Given the description of an element on the screen output the (x, y) to click on. 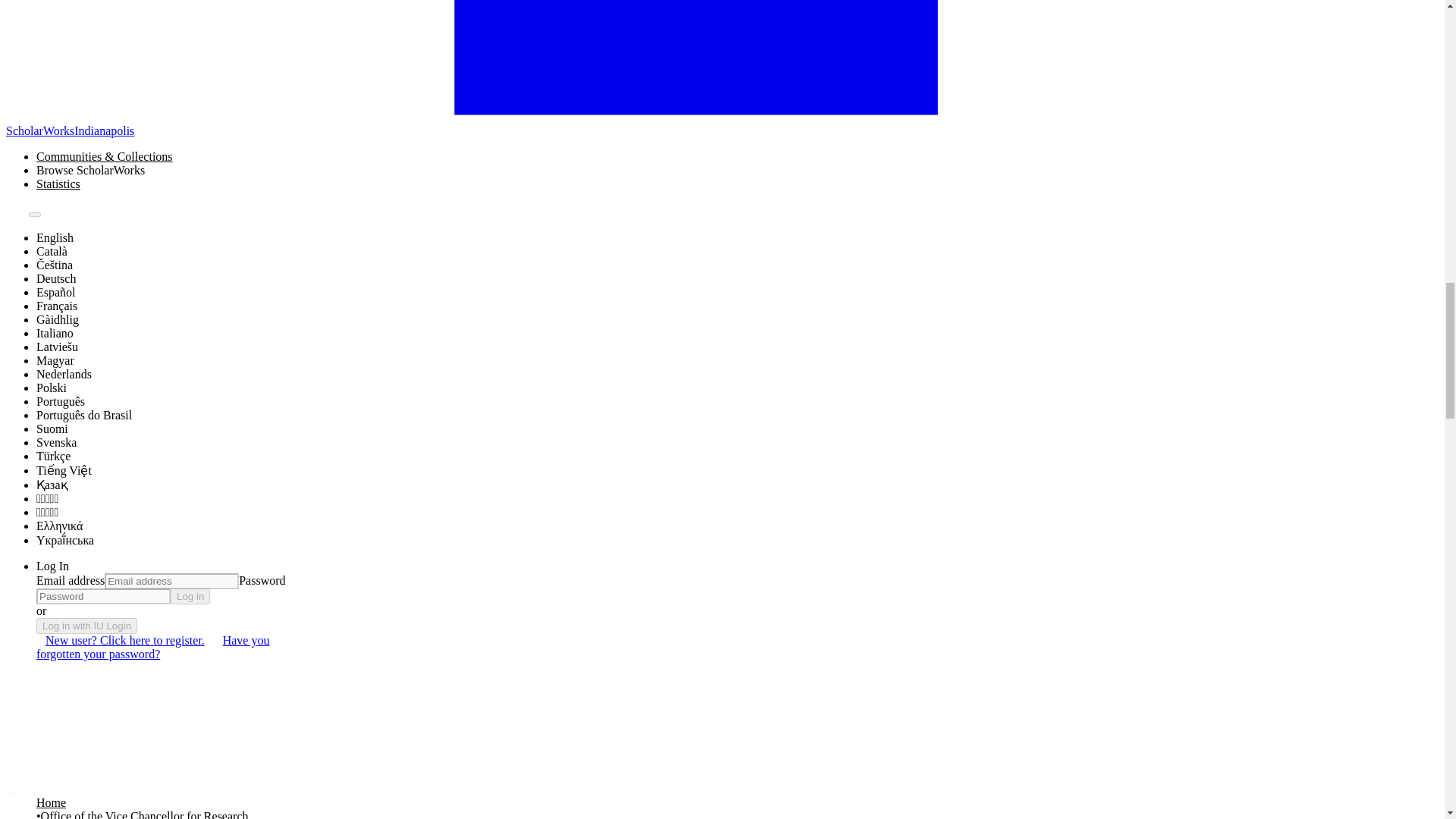
Log In (52, 565)
Browse ScholarWorks (104, 170)
Log in with IU Login (86, 625)
Home (50, 802)
Office of the Vice Chancellor for Research (144, 814)
New user? Click here to register. (125, 640)
Statistics (58, 183)
Have you forgotten your password? (152, 646)
Statistics (58, 183)
Log in (189, 596)
